Given the description of an element on the screen output the (x, y) to click on. 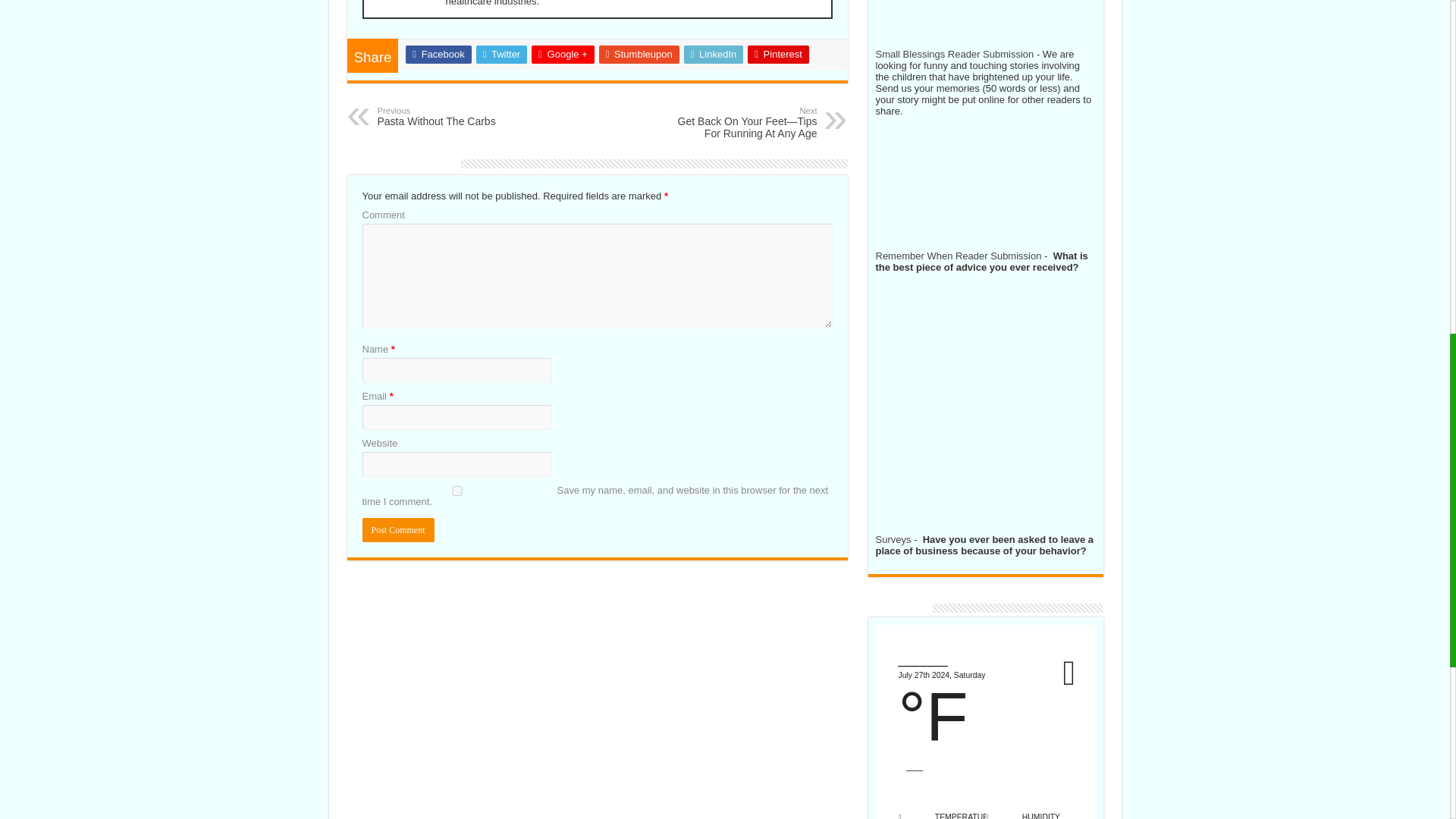
Scroll To Top (1427, 60)
Post Comment (397, 529)
yes (456, 491)
